Given the description of an element on the screen output the (x, y) to click on. 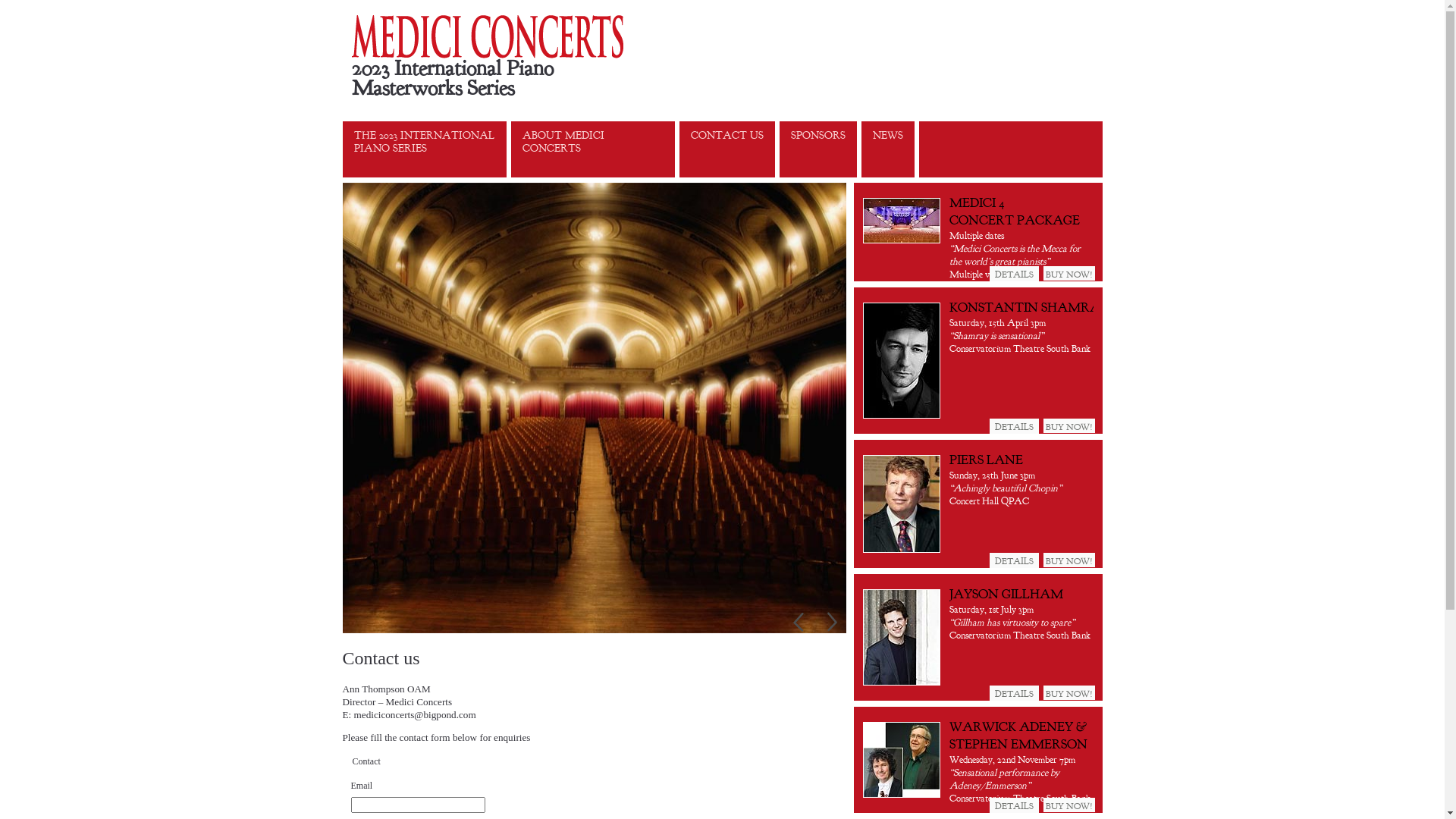
BUY NOW! Element type: text (1069, 273)
NEWS Element type: text (887, 149)
JAYSON GILLHAM Element type: text (1006, 593)
DETAILS Element type: text (1013, 273)
BUY NOW! Element type: text (1069, 559)
PIERS LANE Element type: text (985, 459)
WARWICK ADENEY & STEPHEN EMMERSON Element type: text (1018, 735)
Medici Concerts Element type: hover (534, 36)
DETAILS Element type: text (1013, 559)
THE 2023 INTERNATIONAL PIANO SERIES Element type: text (424, 149)
DETAILS Element type: text (1013, 425)
ABOUT MEDICI CONCERTS Element type: text (592, 149)
SPONSORS Element type: text (817, 149)
DETAILS Element type: text (1013, 804)
BUY NOW! Element type: text (1069, 425)
DETAILS Element type: text (1013, 692)
BUY NOW! Element type: text (1069, 692)
MEDICI 4 CONCERT PACKAGE Element type: text (1014, 211)
BUY NOW! Element type: text (1069, 804)
KONSTANTIN SHAMRAY Element type: text (1028, 306)
CONTACT US Element type: text (727, 149)
